Given the description of an element on the screen output the (x, y) to click on. 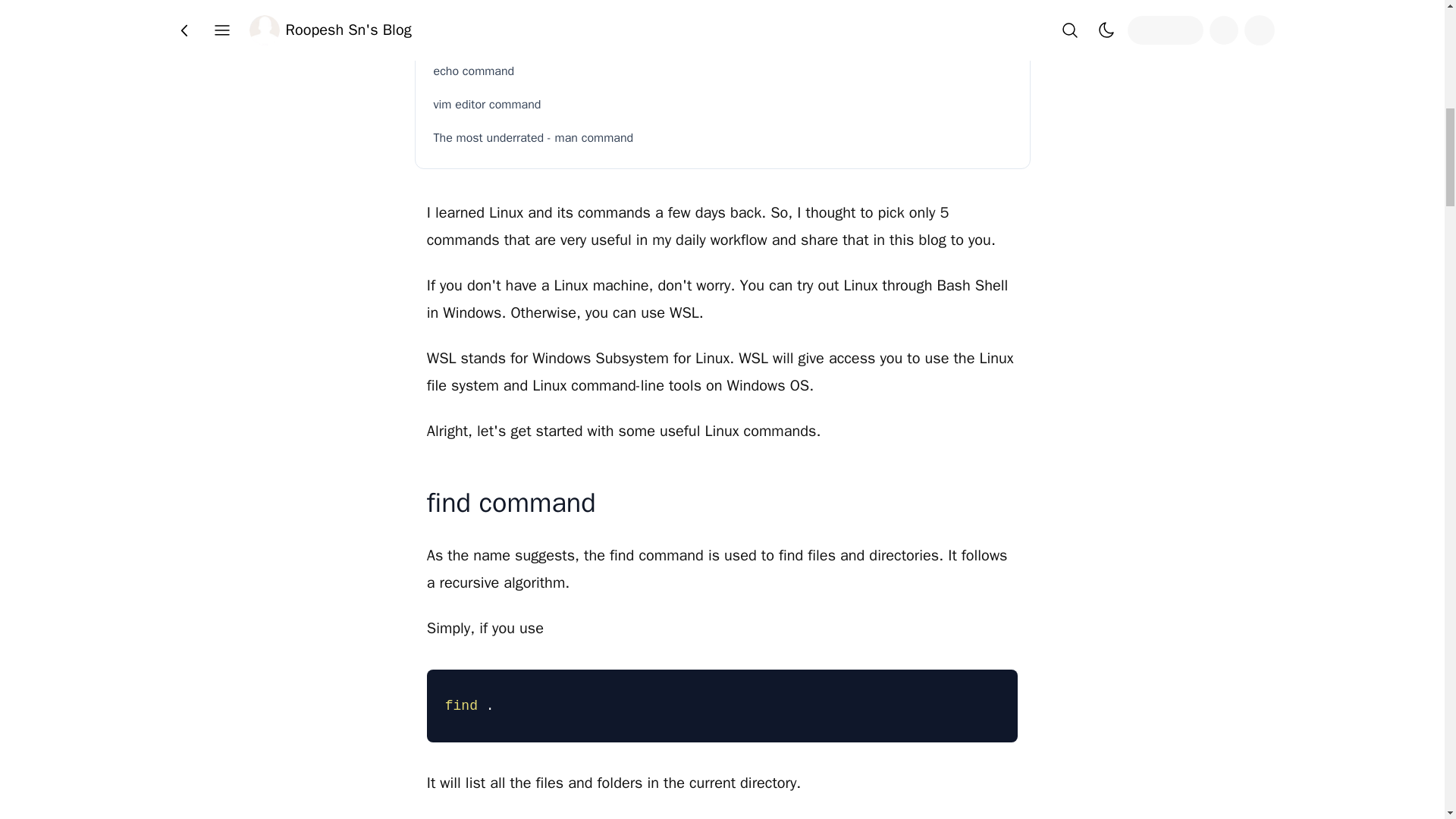
echo command (722, 71)
cat command (722, 37)
vim editor command (722, 104)
The most underrated - man command (722, 137)
Some use cases with find (728, 9)
